Given the description of an element on the screen output the (x, y) to click on. 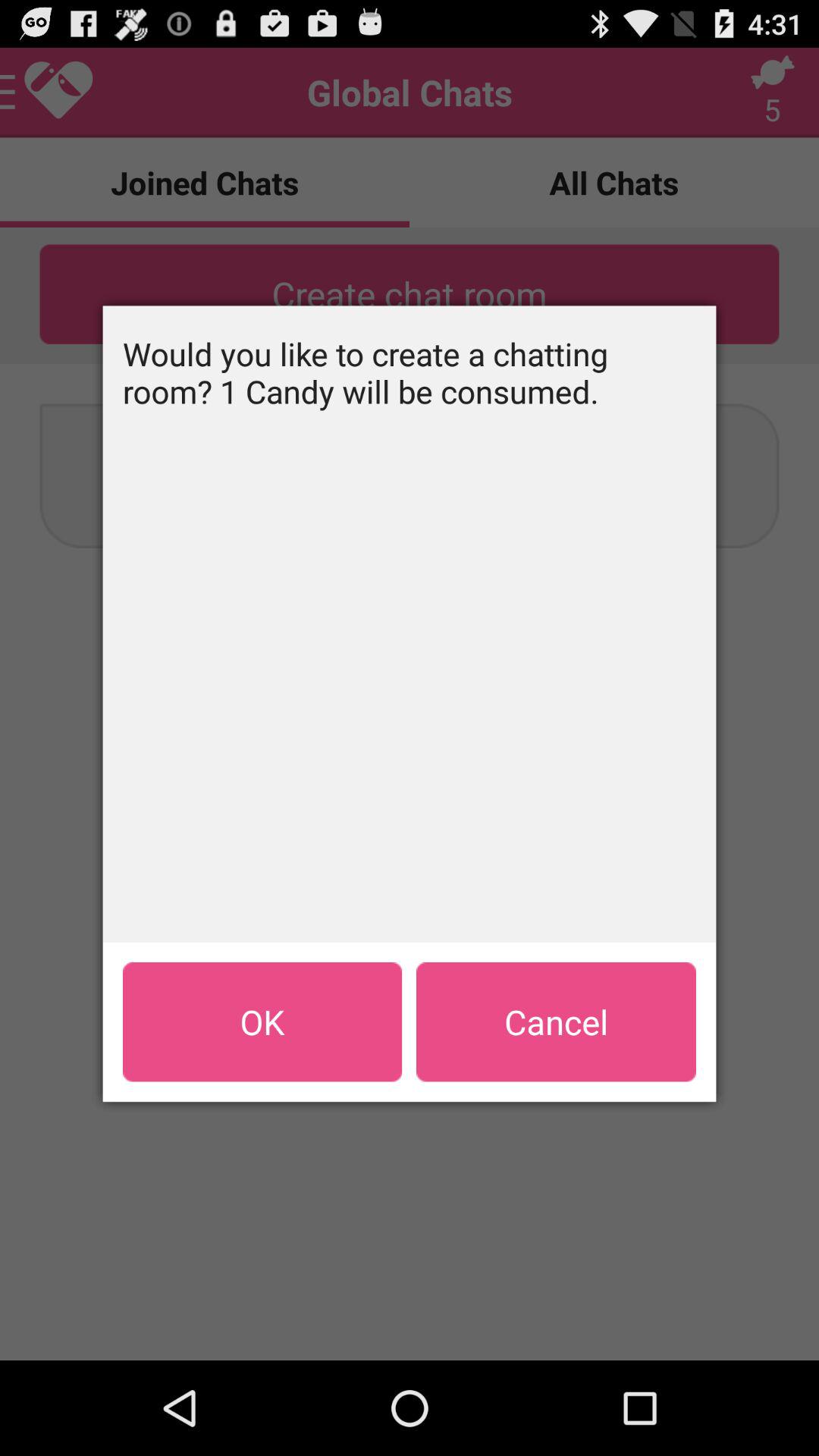
scroll to the cancel item (556, 1021)
